Given the description of an element on the screen output the (x, y) to click on. 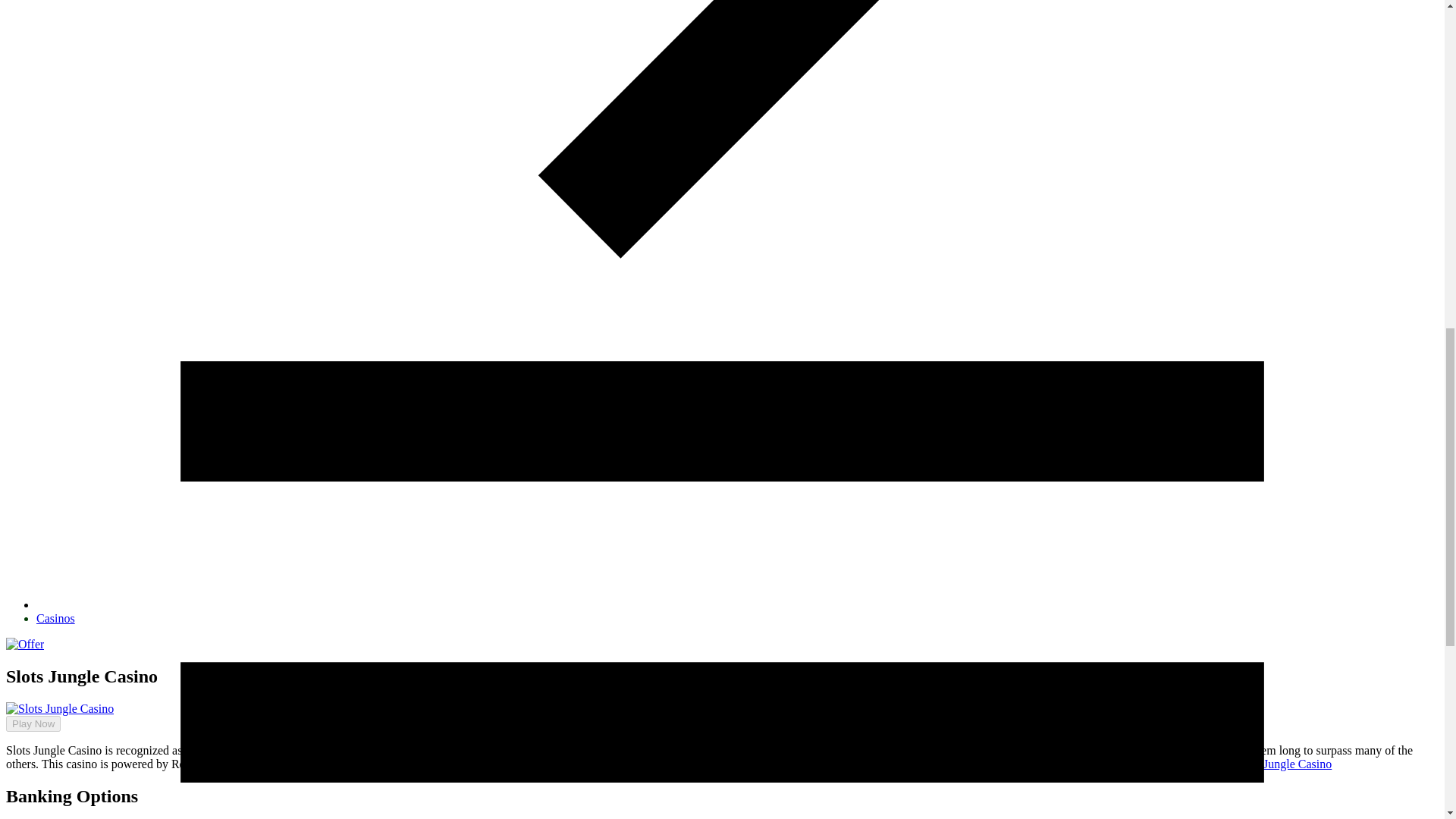
Casinos (55, 617)
Play Now (27, 745)
play at Slots Jungle Casino (1265, 763)
Play Now (33, 723)
